Given the description of an element on the screen output the (x, y) to click on. 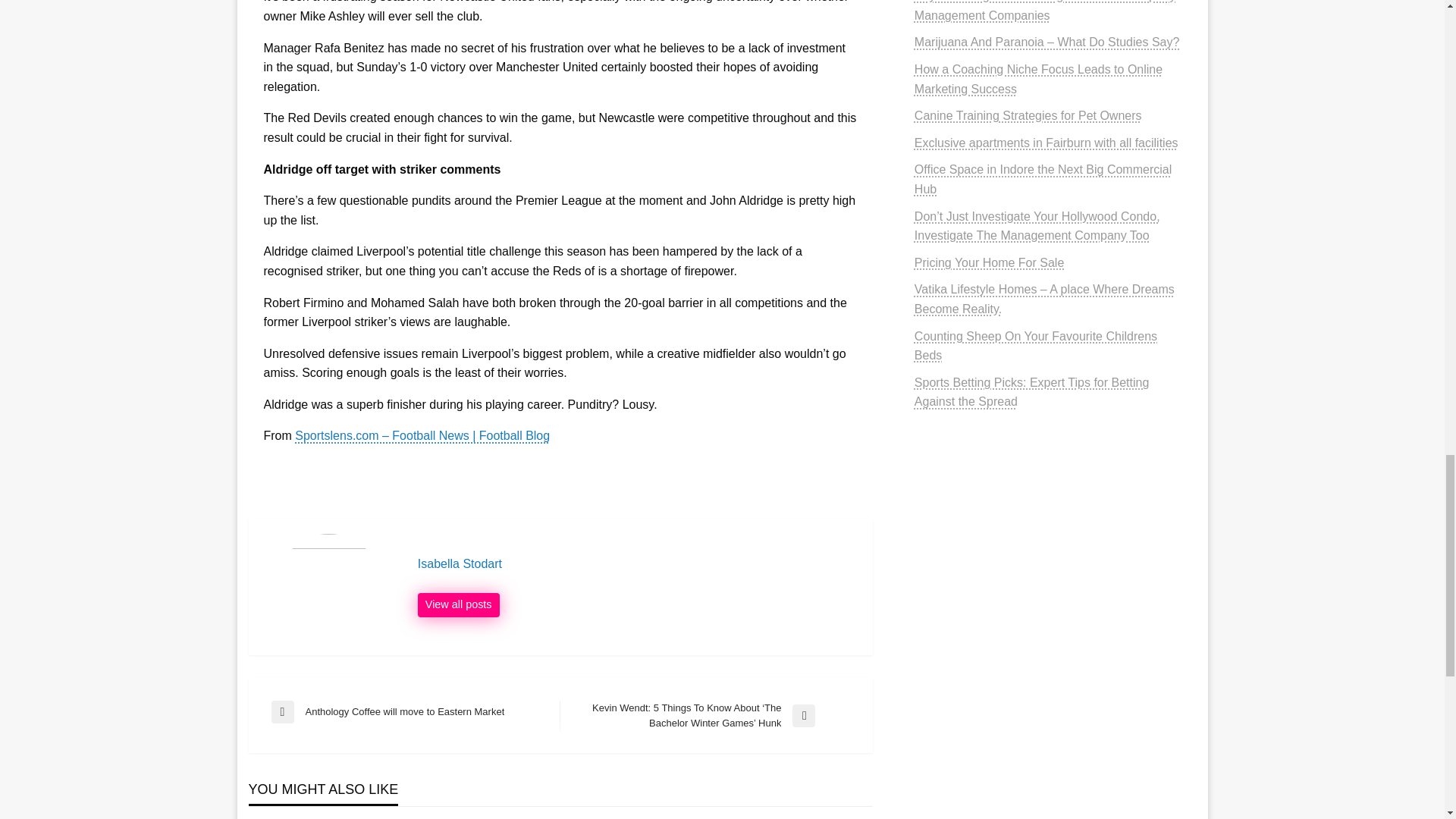
Isabella Stodart (637, 563)
Isabella Stodart (458, 604)
Isabella Stodart (637, 563)
View all posts (415, 712)
